Given the description of an element on the screen output the (x, y) to click on. 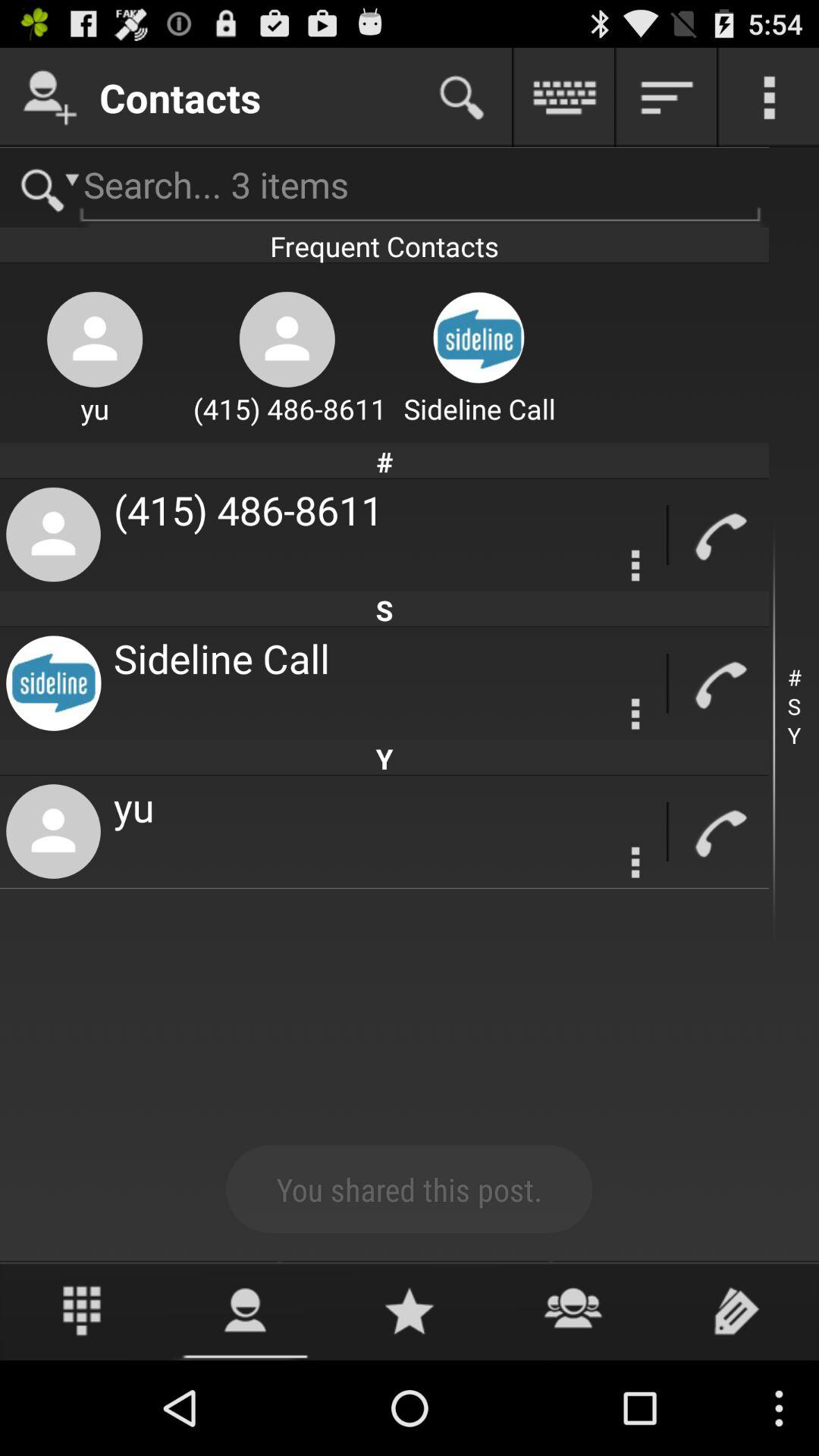
open the menu (769, 97)
